Given the description of an element on the screen output the (x, y) to click on. 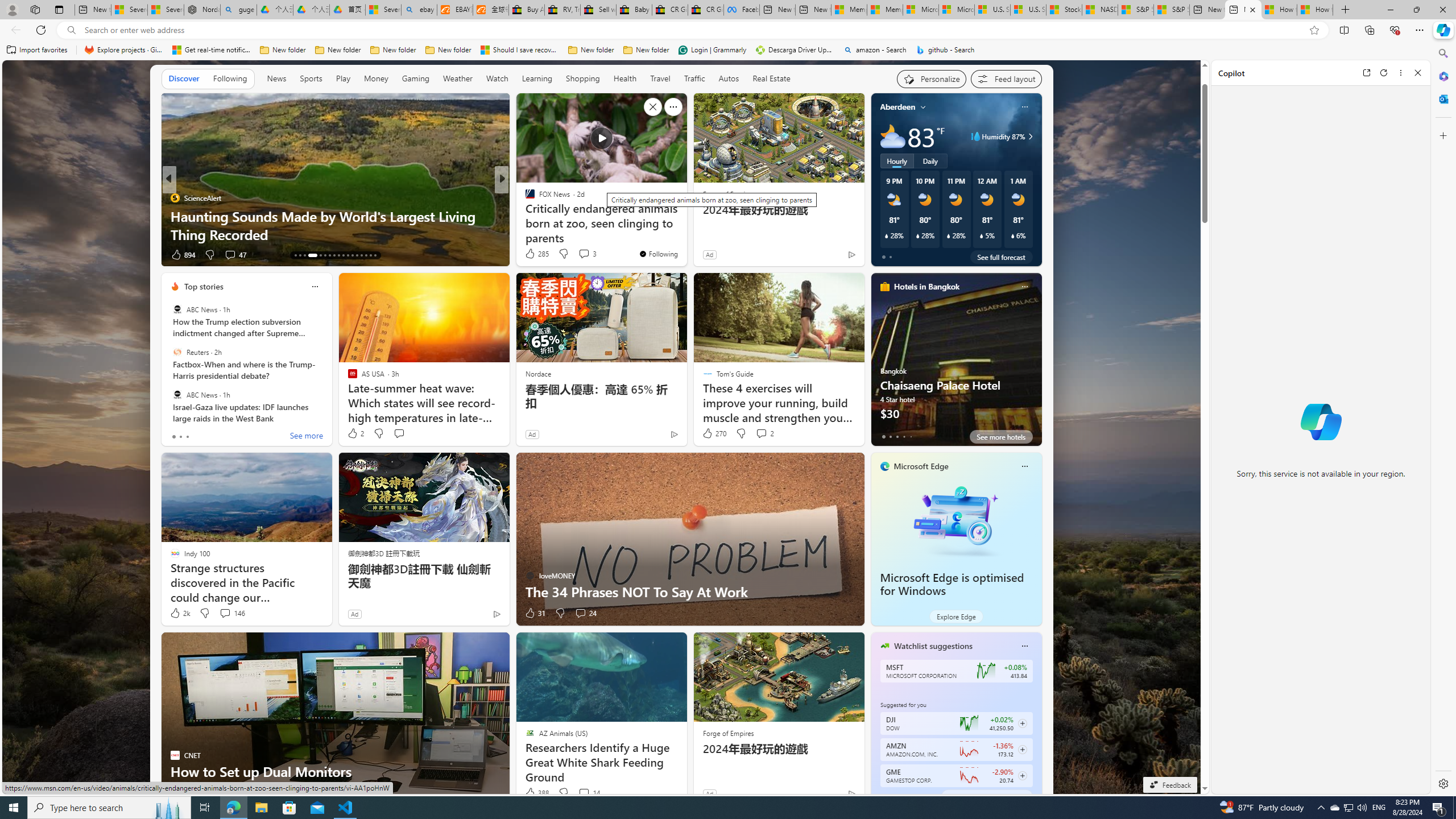
News (276, 78)
View comments 14 Comment (588, 792)
Money (375, 79)
Komando (524, 215)
270 Like (713, 433)
Following (229, 79)
Gaming (415, 78)
Traffic (694, 78)
Should I save recovered Word documents? - Microsoft Support (519, 49)
106 Like (532, 254)
8 Like (529, 254)
